Given the description of an element on the screen output the (x, y) to click on. 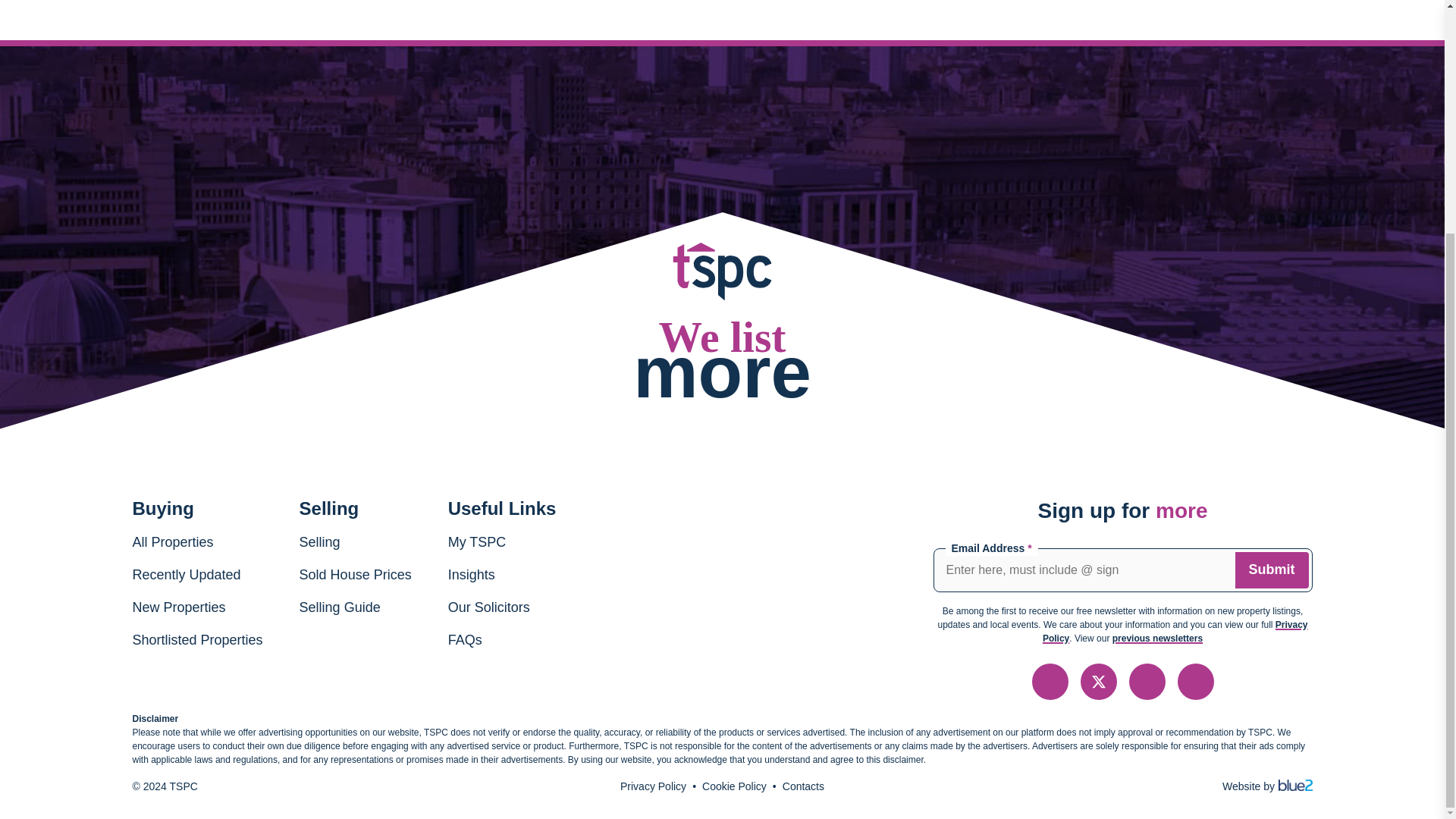
New Properties (178, 607)
Recently Updated (186, 574)
Submit (1270, 570)
Selling (319, 541)
Shortlisted Properties (197, 639)
All Properties (172, 541)
Sold House Prices (355, 574)
Blue2 Digital Web Design (1293, 786)
